Given the description of an element on the screen output the (x, y) to click on. 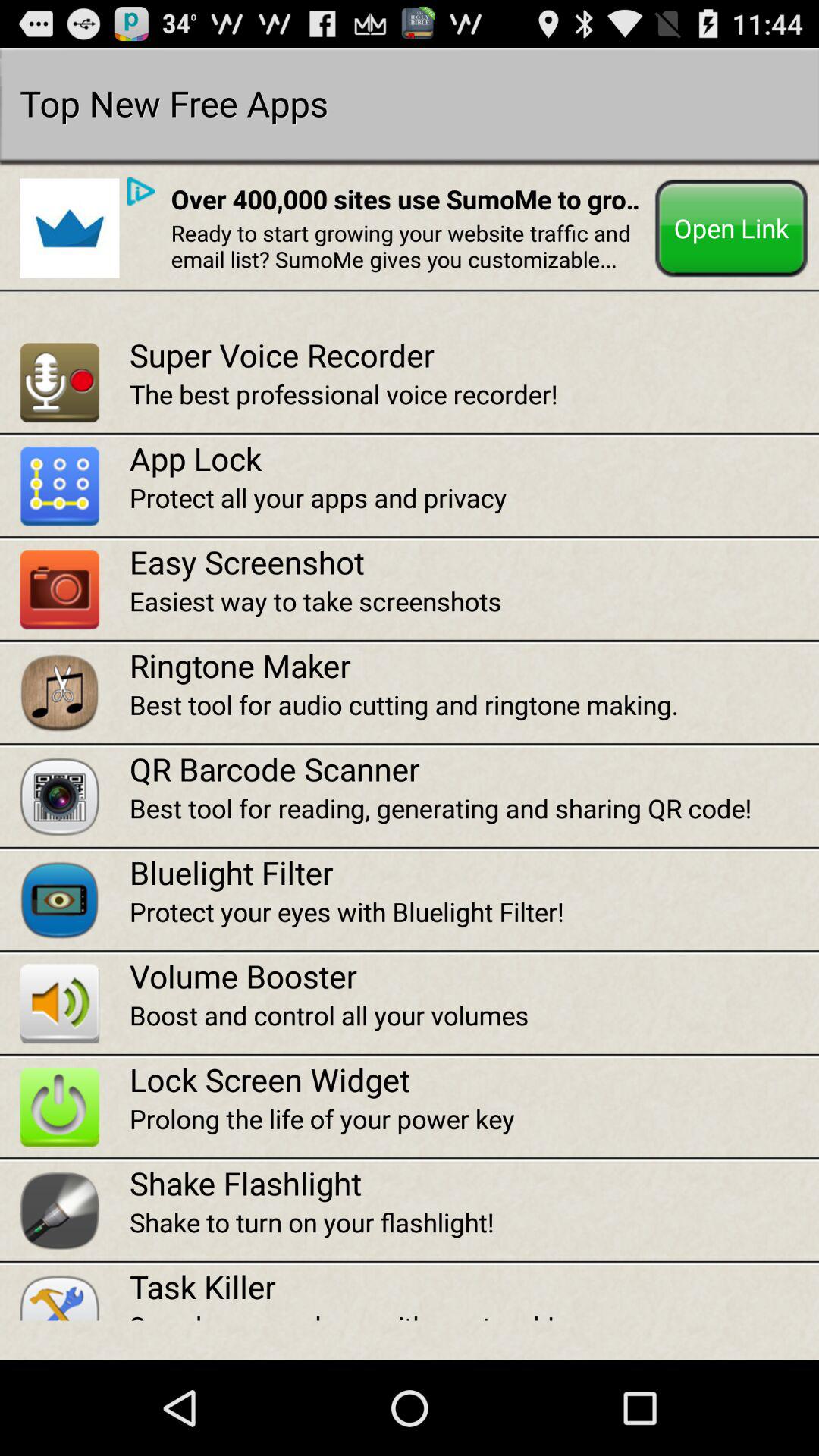
open the item above speed up your (474, 1286)
